Given the description of an element on the screen output the (x, y) to click on. 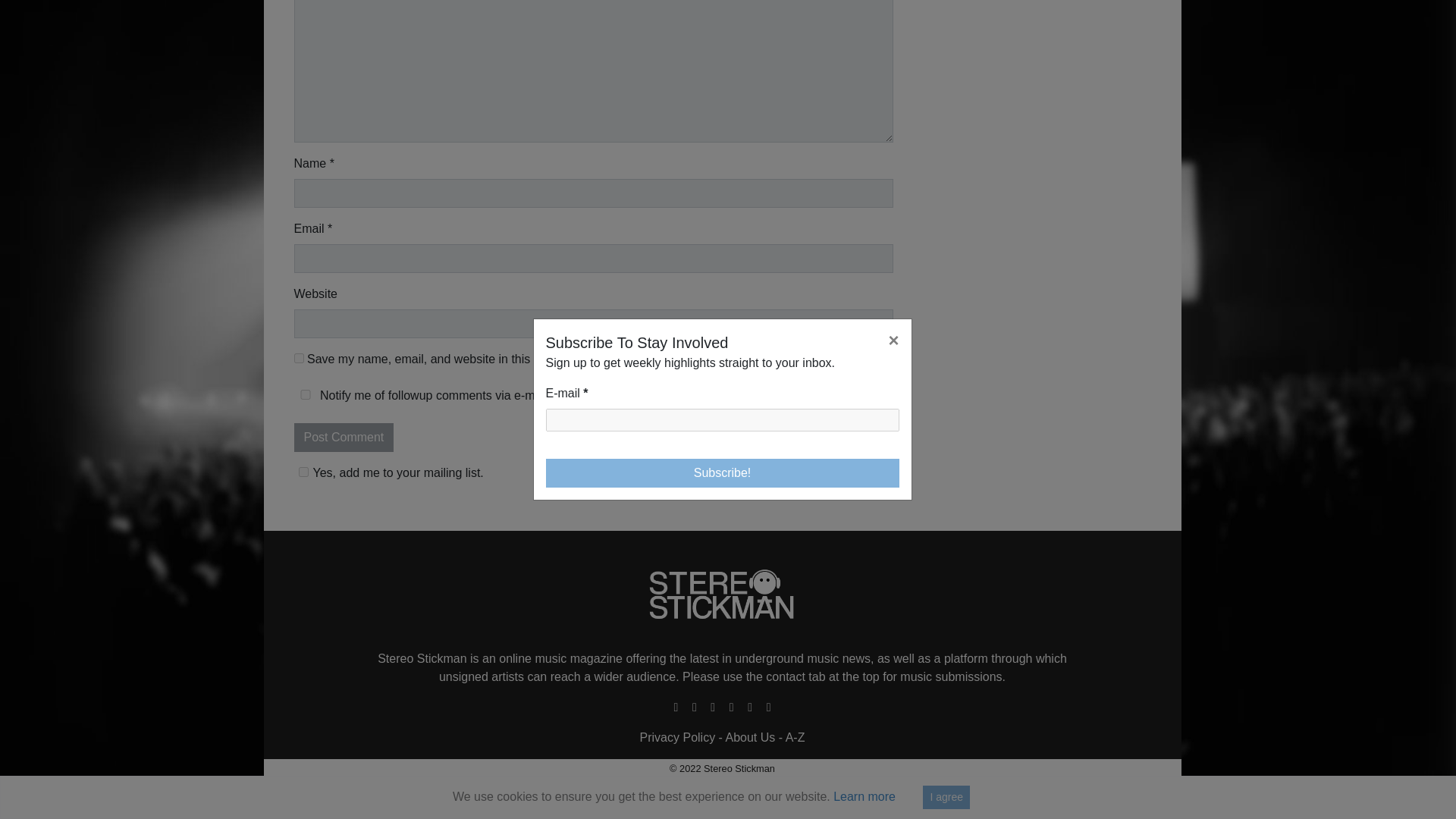
Post Comment (344, 437)
